Given the description of an element on the screen output the (x, y) to click on. 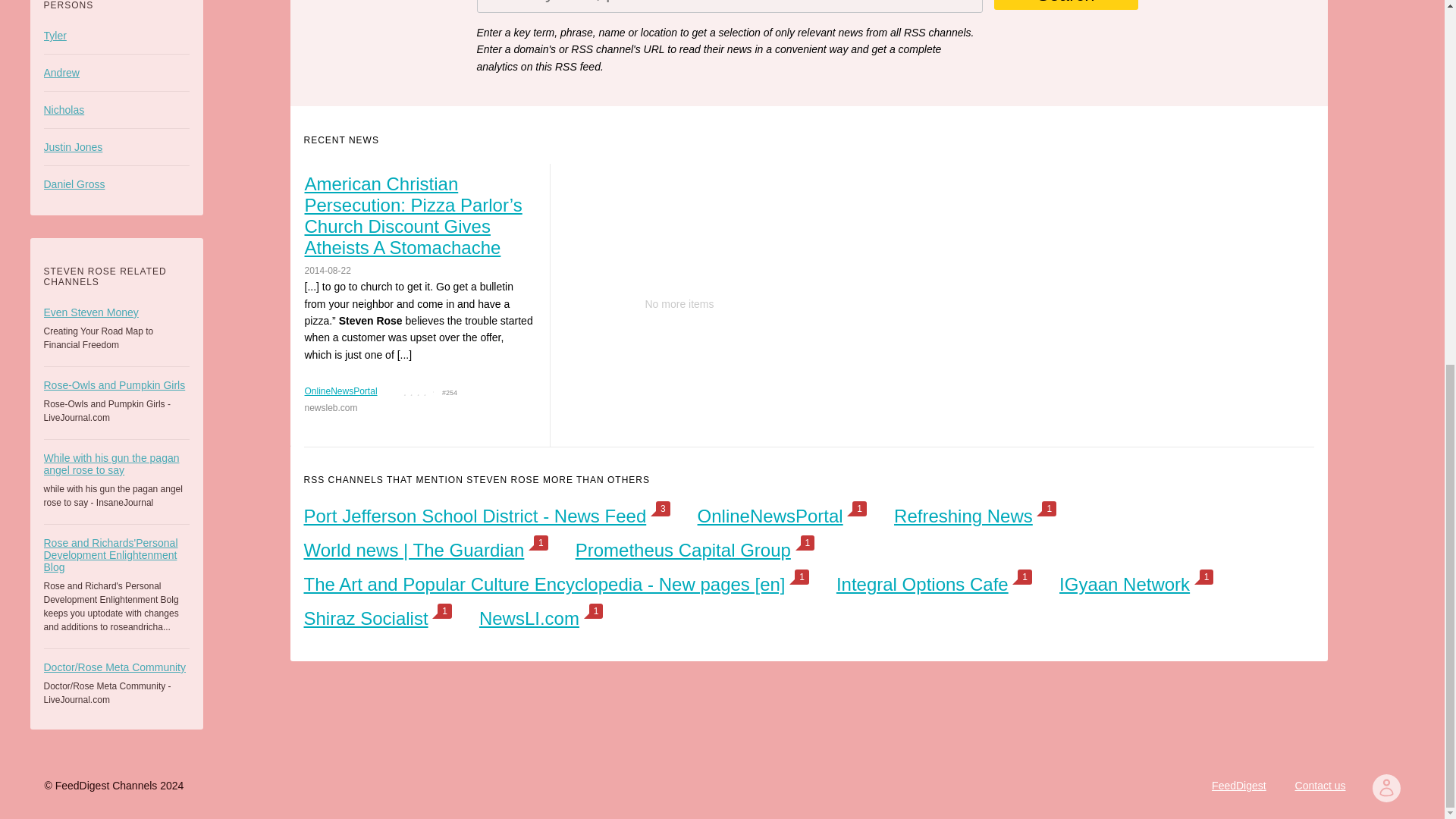
Search (1064, 4)
OnlineNewsPortal (770, 516)
Shiraz Socialist (365, 618)
OnlineNewsPortal (340, 390)
NewsLI.com (529, 618)
Port Jefferson School District - News Feed (474, 516)
Prometheus Capital Group (682, 549)
Integral Options Cafe (922, 584)
Tyler (116, 35)
Refreshing News (962, 516)
IGyaan Network (1124, 584)
